Given the description of an element on the screen output the (x, y) to click on. 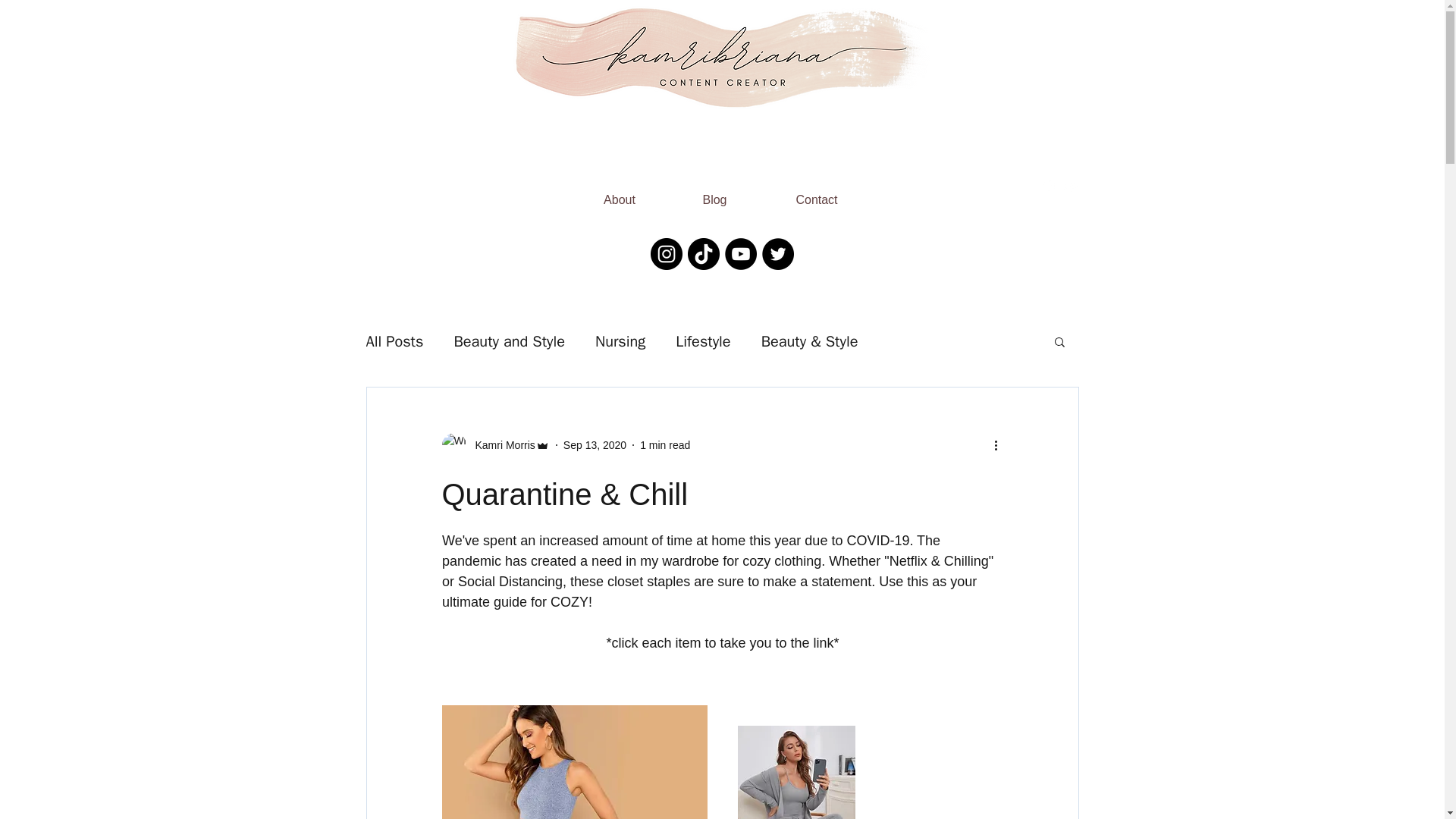
Lifestyle (702, 341)
About (619, 193)
Kamri Morris (499, 445)
Sep 13, 2020 (594, 444)
1 min read (665, 444)
Blog (714, 193)
All Posts (394, 341)
Beauty and Style (508, 341)
Nursing (620, 341)
Contact (817, 193)
